Given the description of an element on the screen output the (x, y) to click on. 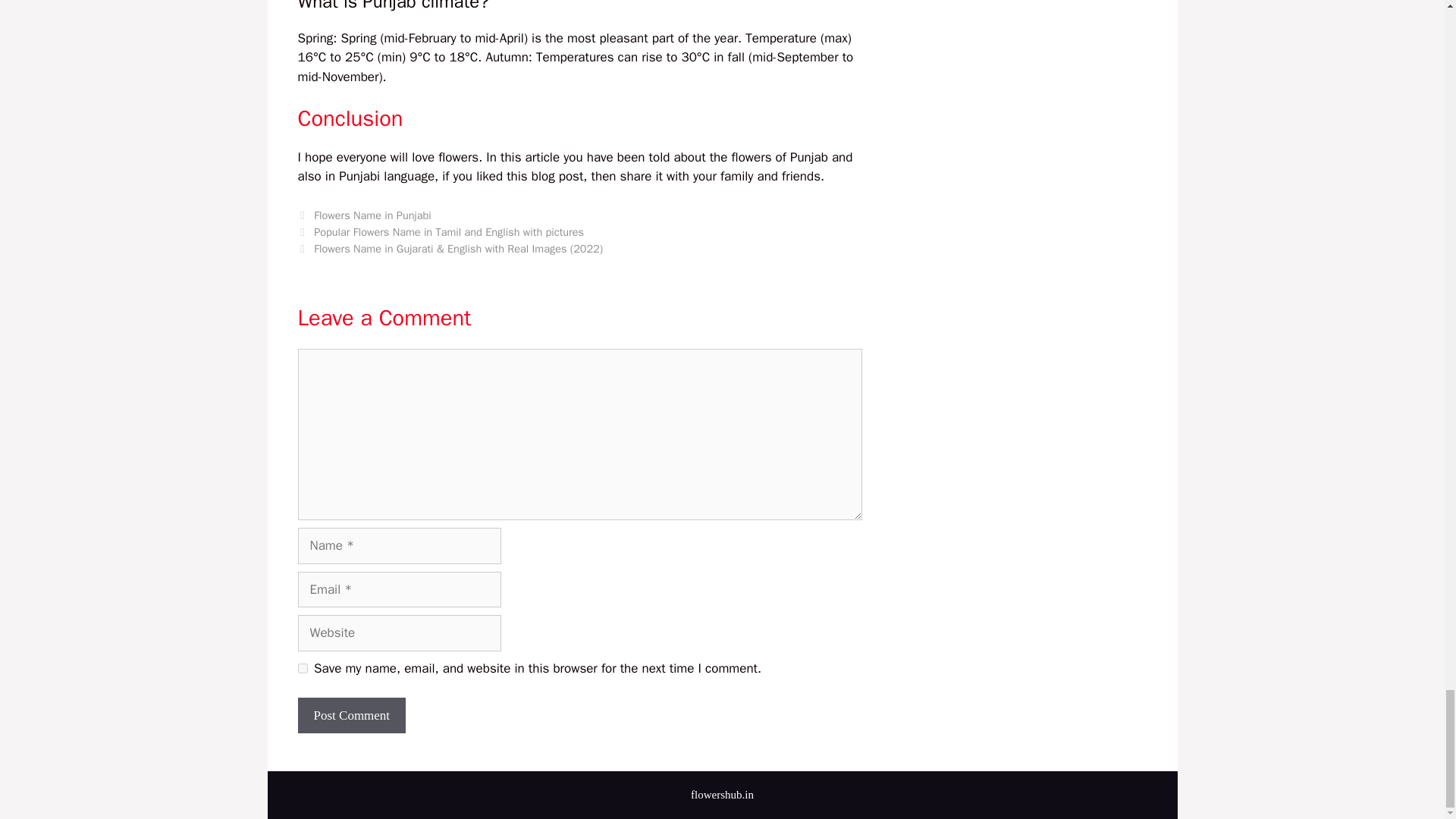
Flowers Name in Punjabi (372, 214)
Post Comment (351, 715)
Post Comment (351, 715)
yes (302, 668)
Popular Flowers Name in Tamil and English with pictures (448, 232)
